Given the description of an element on the screen output the (x, y) to click on. 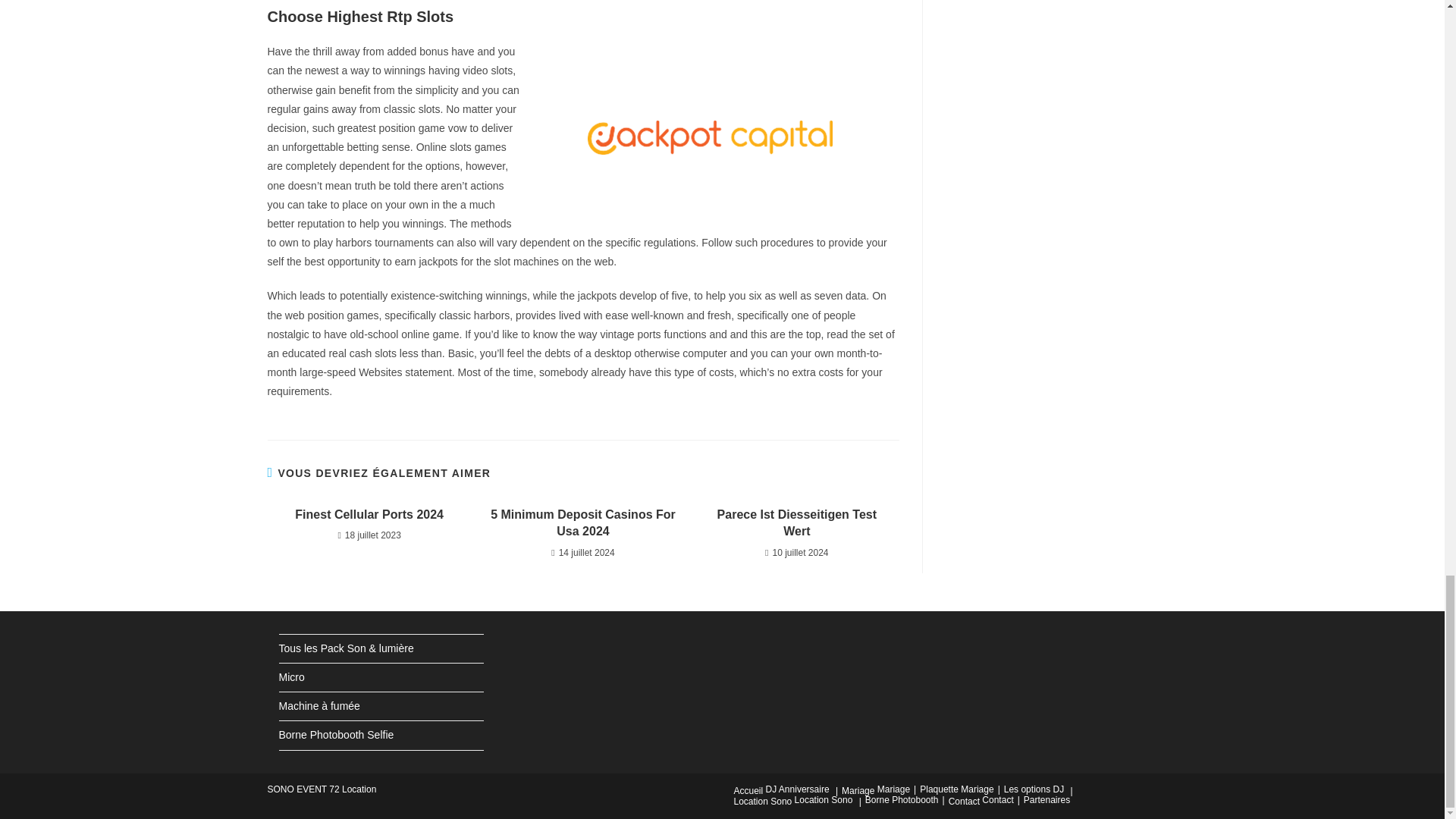
5 Minimum Deposit Casinos For Usa 2024 (582, 523)
Parece Ist Diesseitigen Test Wert (796, 523)
Finest Cellular Ports 2024 (368, 514)
